Given the description of an element on the screen output the (x, y) to click on. 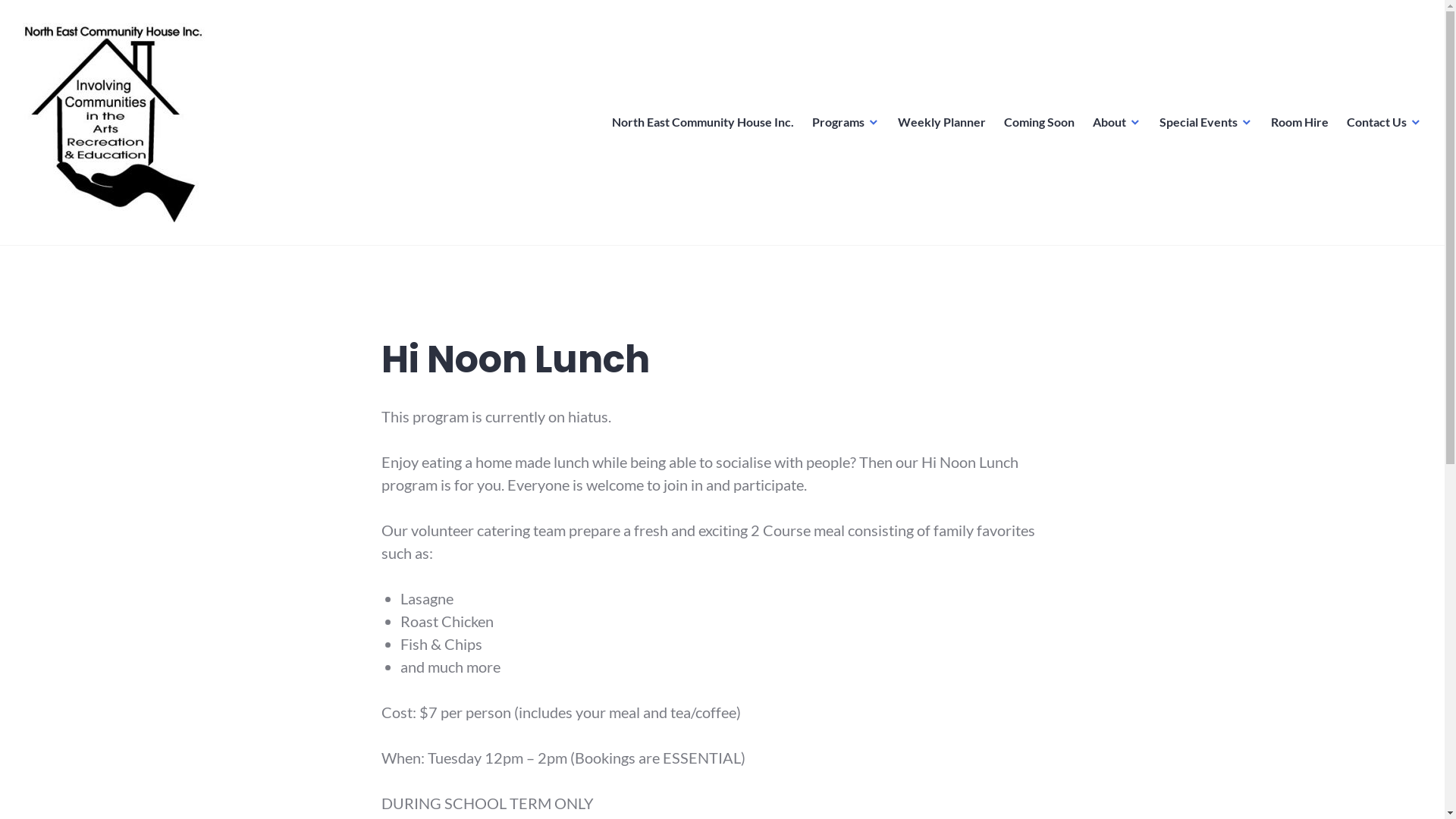
Programs Element type: text (845, 121)
Coming Soon Element type: text (1039, 121)
North East Community House Inc. Element type: text (188, 242)
Room Hire Element type: text (1299, 121)
Weekly Planner Element type: text (941, 121)
Special Events Element type: text (1205, 121)
About Element type: text (1116, 121)
Contact Us Element type: text (1383, 121)
North East Community House Inc. Element type: text (702, 121)
